Given the description of an element on the screen output the (x, y) to click on. 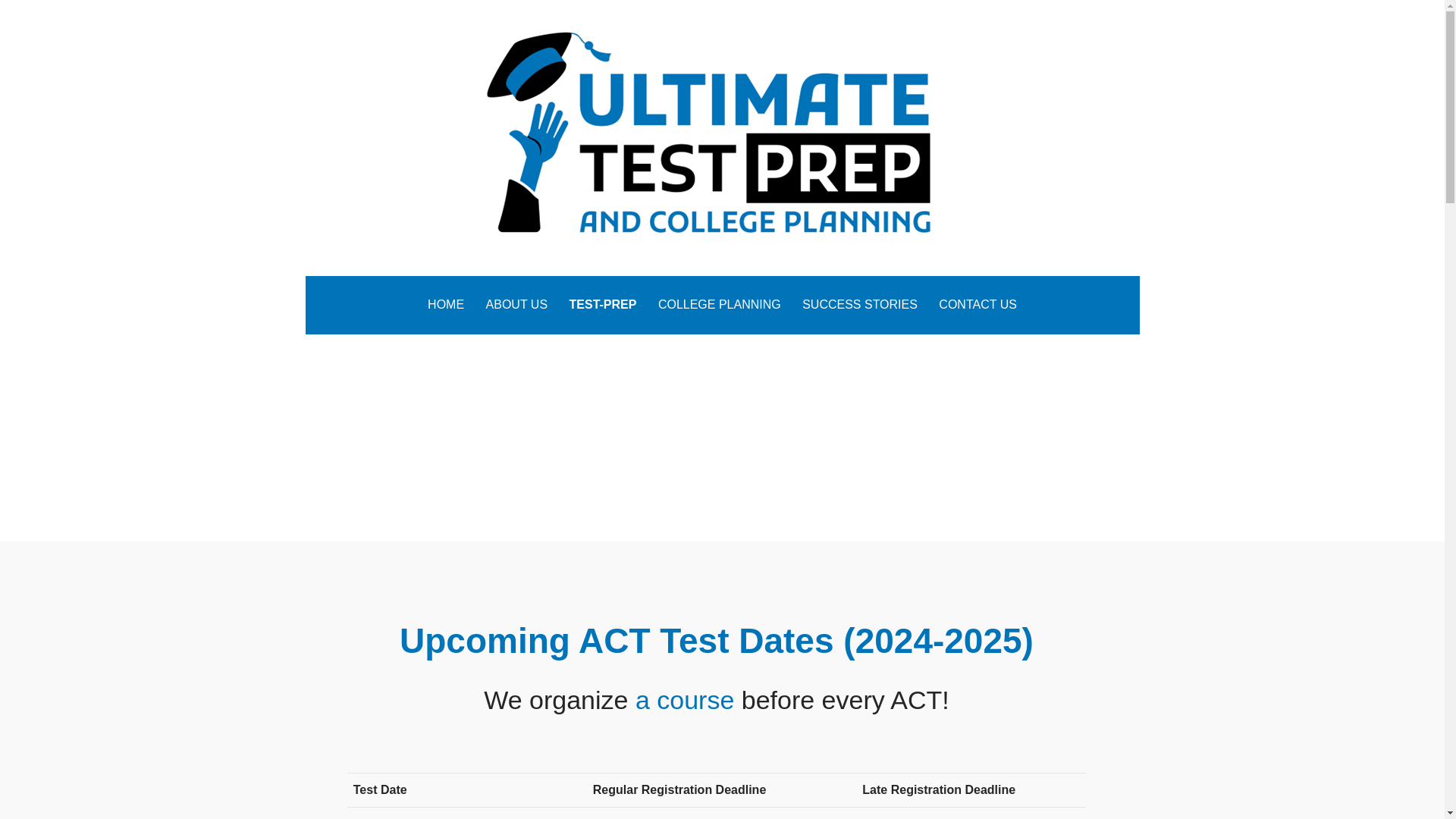
TEST-PREP (603, 305)
COLLEGE PLANNING (719, 305)
CONTACT US (978, 305)
Ultimate Test Prep (428, 269)
ABOUT US (517, 305)
SUCCESS STORIES (859, 305)
HOME (446, 305)
